Given the description of an element on the screen output the (x, y) to click on. 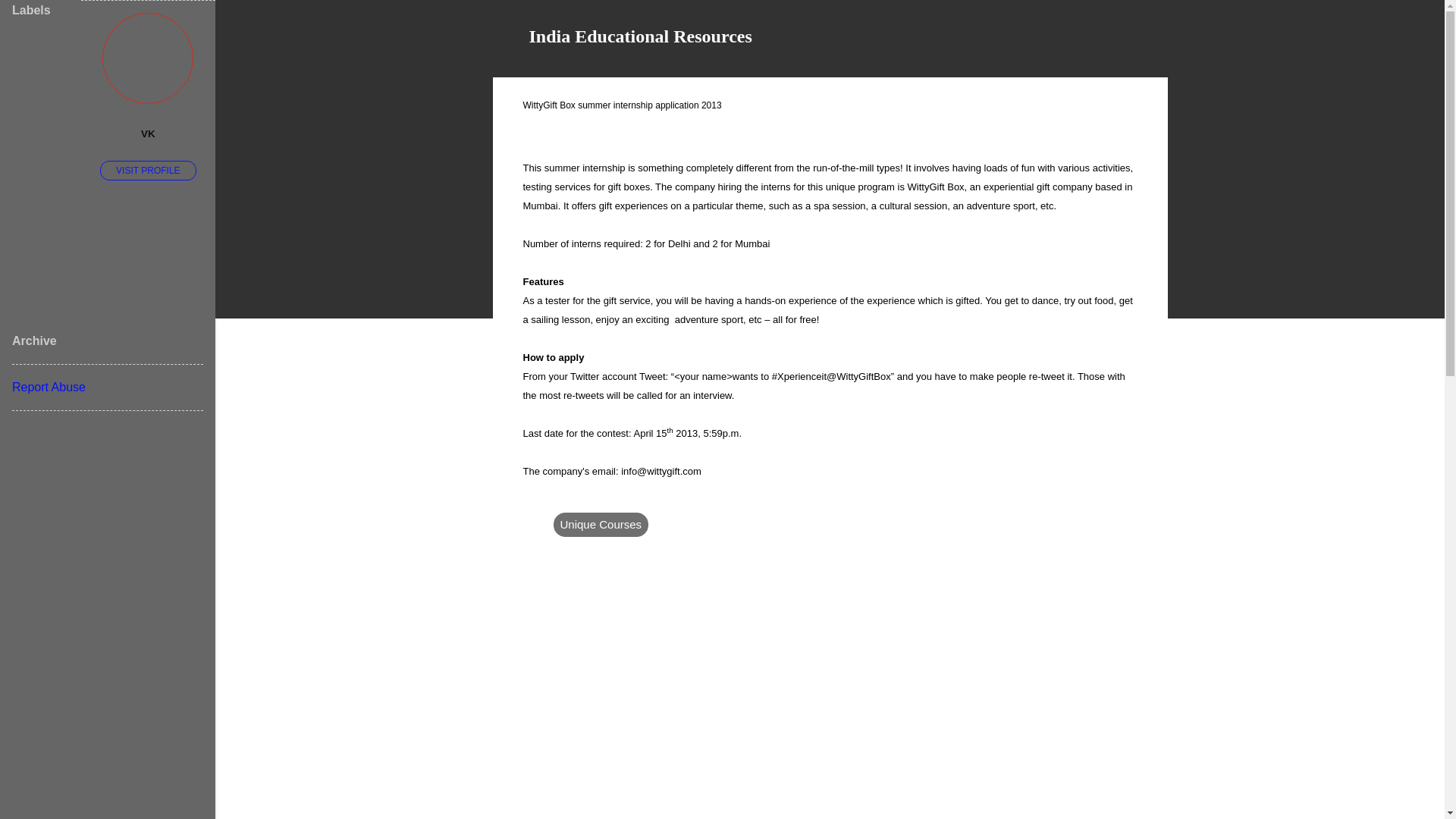
Unique Courses (601, 524)
April 11, 2013 (558, 131)
India Educational Resources (640, 35)
Search (29, 18)
permanent link (558, 131)
